Given the description of an element on the screen output the (x, y) to click on. 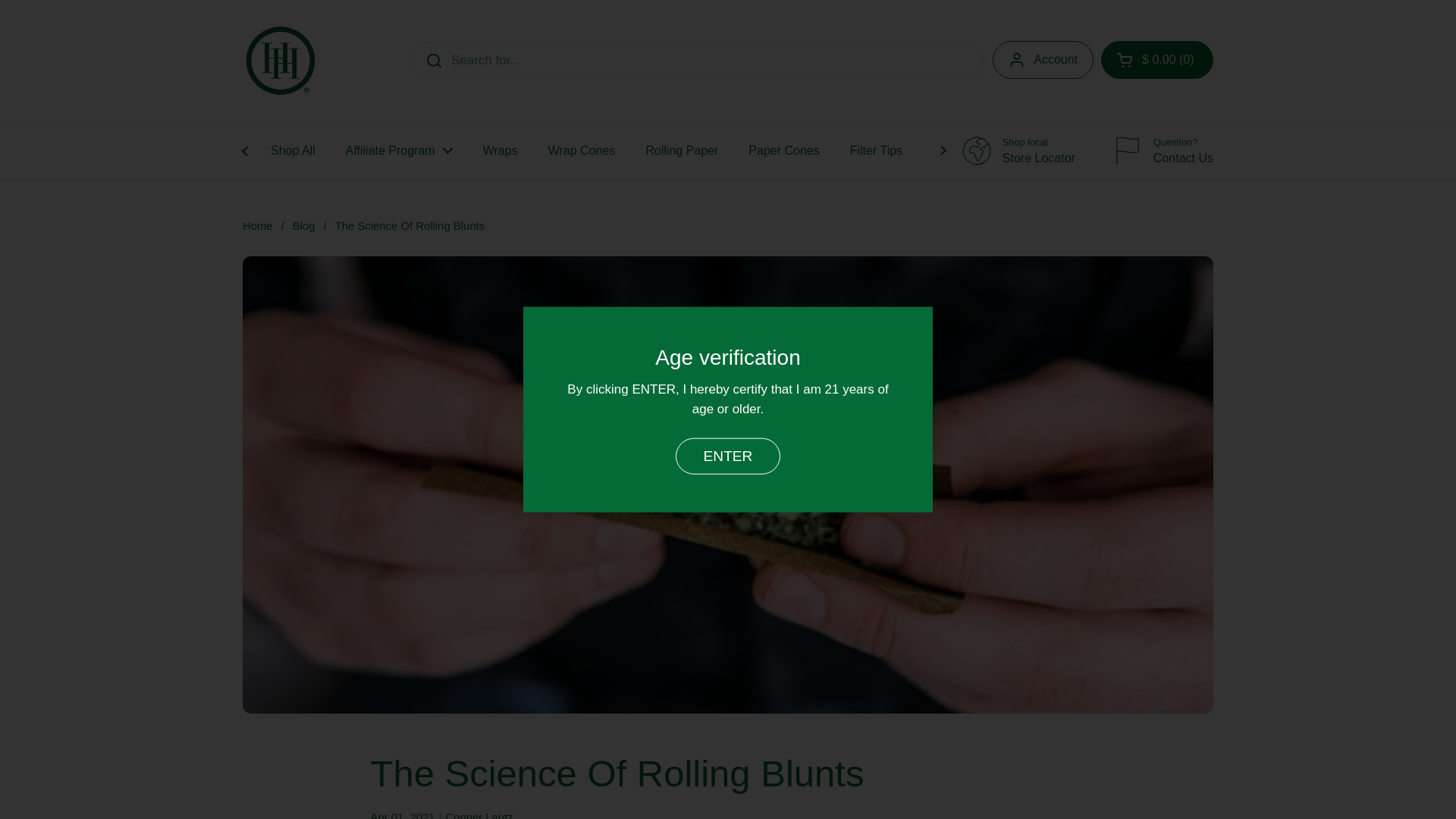
Wrap Cones (581, 150)
Paper Cones (783, 150)
Herbal Blends (1162, 150)
Accessories (971, 150)
Gummies (1018, 150)
Skip to content (1305, 150)
Affiliate Program (1065, 150)
Shop All (398, 150)
Filter Tips (1146, 150)
Apparel (293, 150)
High Hemp Herbal Wraps (875, 150)
